Given the description of an element on the screen output the (x, y) to click on. 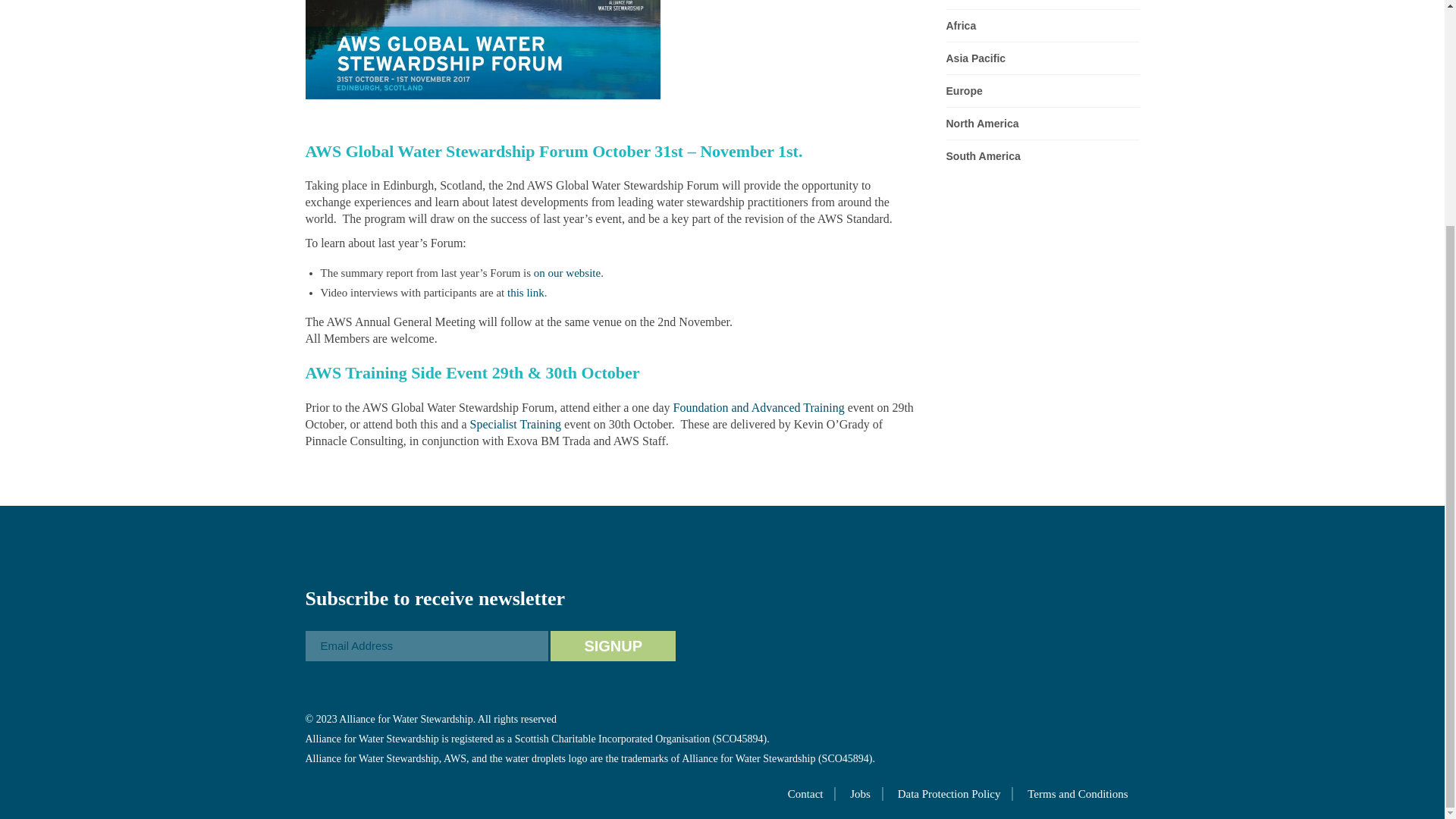
on our website (566, 272)
this link (525, 292)
SIGNUP (612, 645)
